Given the description of an element on the screen output the (x, y) to click on. 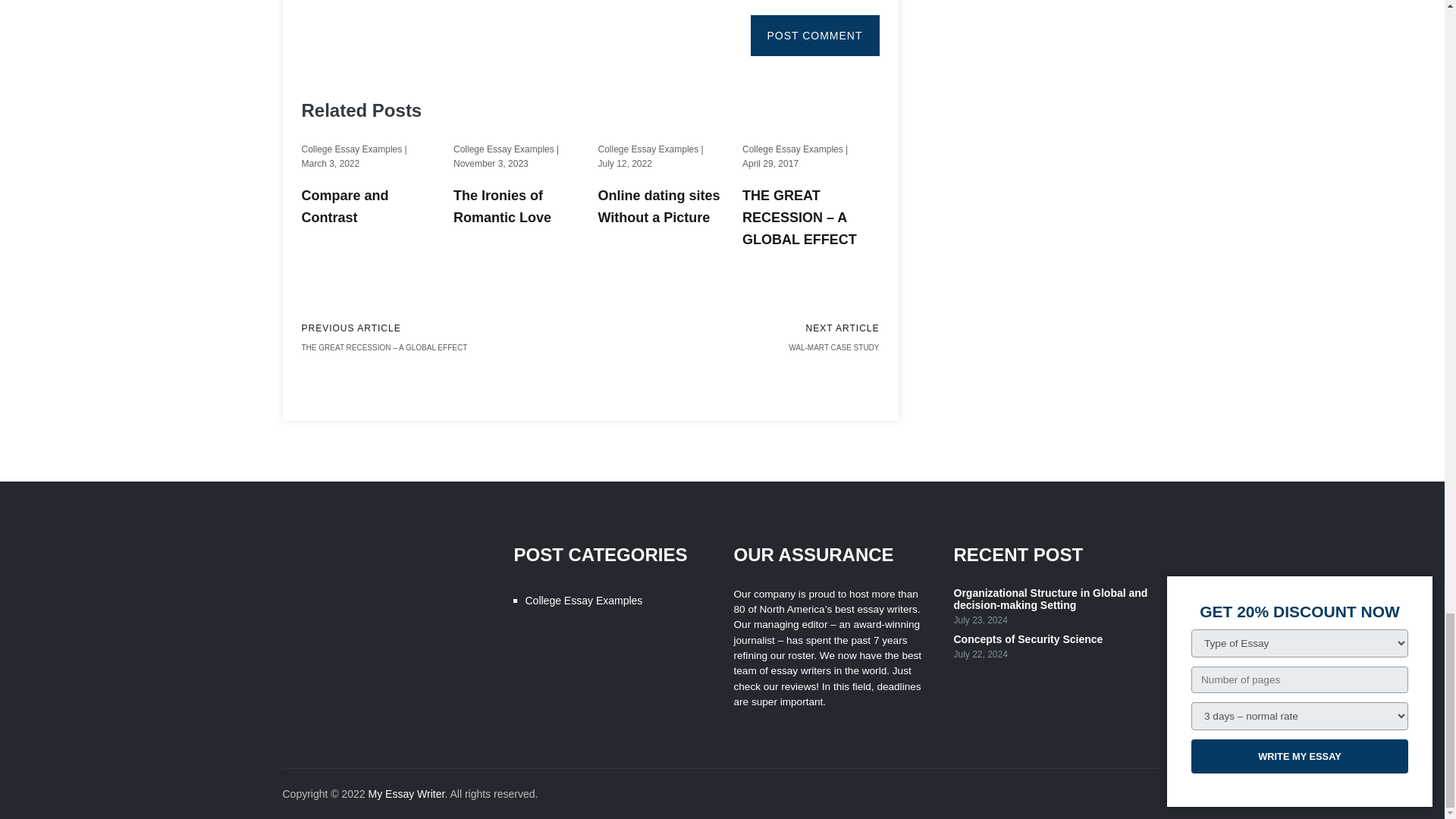
Post Comment (815, 35)
